Given the description of an element on the screen output the (x, y) to click on. 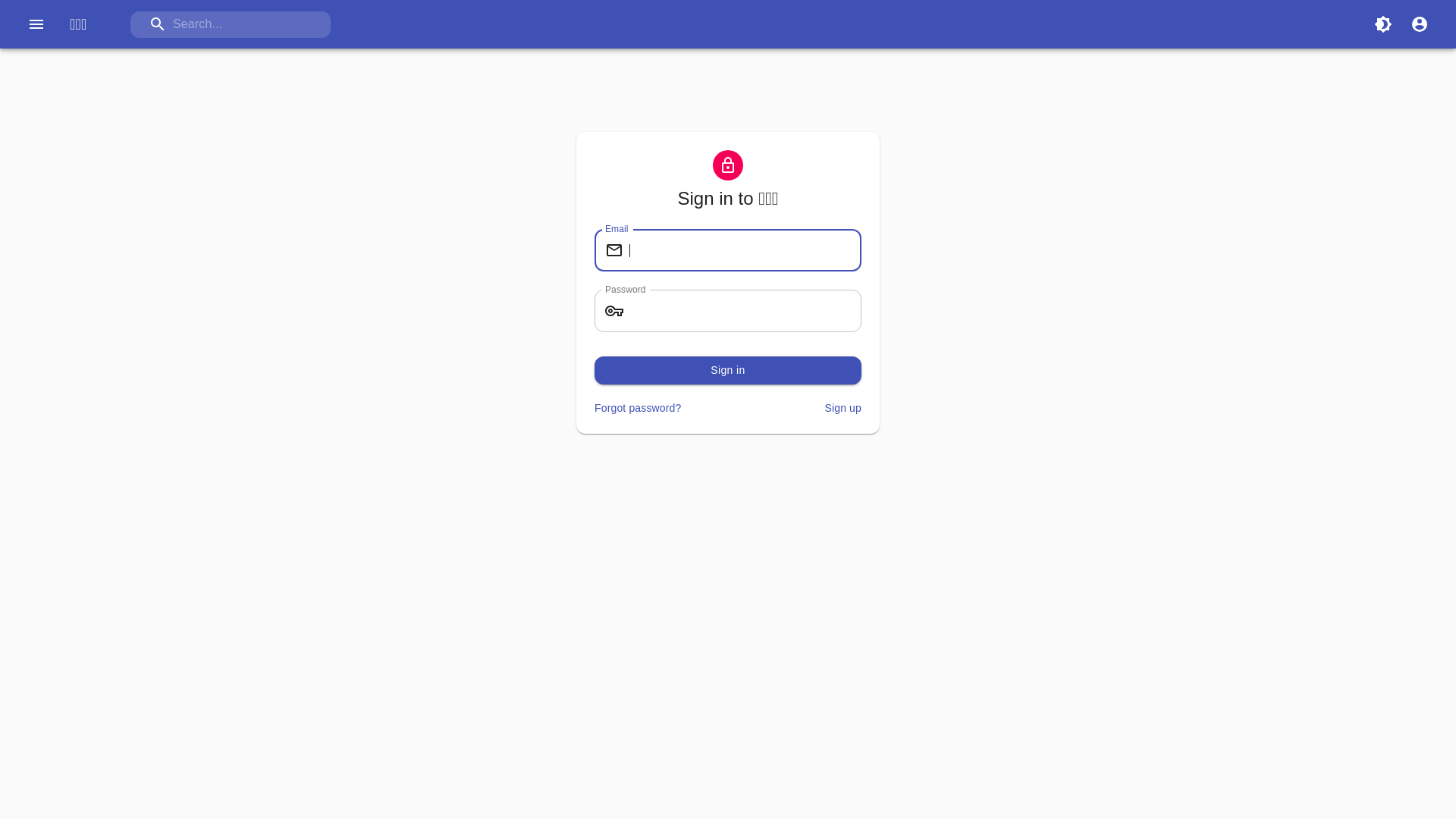
Sign up Element type: text (842, 407)
Forgot password? Element type: text (637, 407)
Sign in Element type: text (727, 370)
Switch to dark theme Element type: hover (1383, 24)
